Given the description of an element on the screen output the (x, y) to click on. 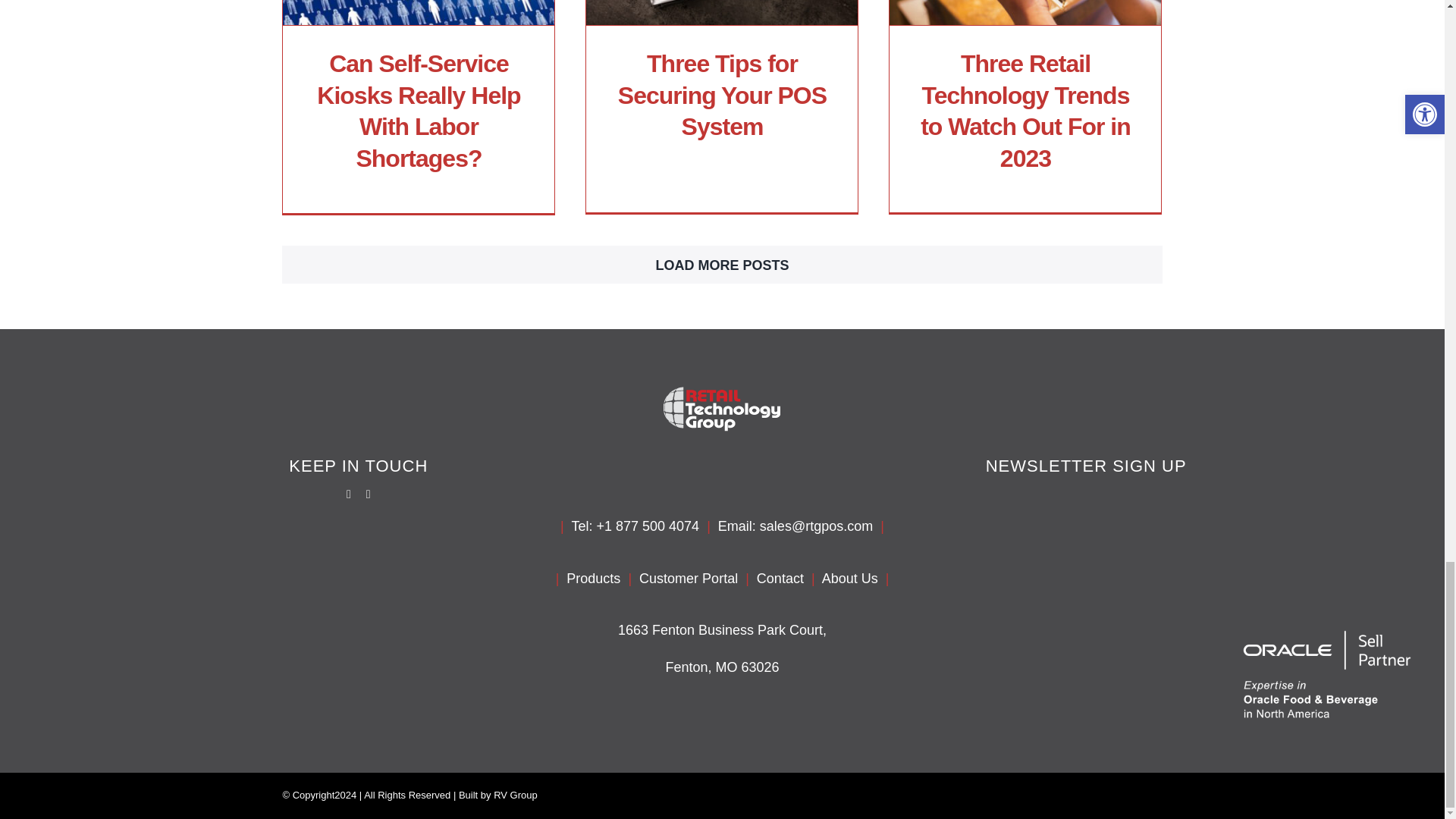
Retail Technology Group (722, 409)
o-sell-prtnr-OracleFoodBevrg-NAS-wht-rgb (1326, 673)
